Given the description of an element on the screen output the (x, y) to click on. 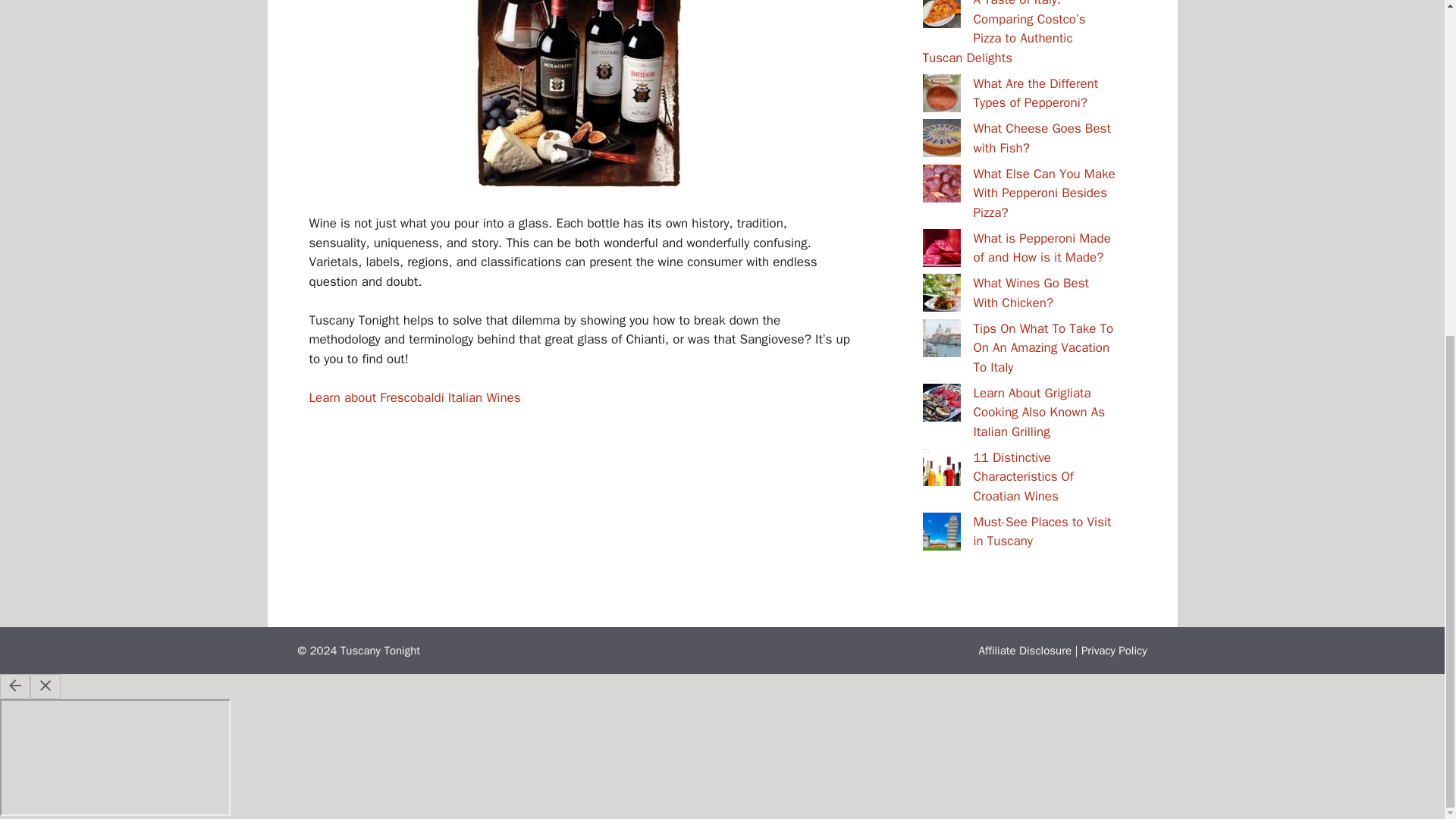
Privacy Policy (1114, 650)
What Cheese Goes Best with Fish? (1042, 138)
Tips On What To Take To On An Amazing Vacation To Italy (1043, 348)
Learn about Frescobaldi Italian Wines (414, 397)
What Wines Go Best With Chicken? (1031, 293)
11 Distinctive Characteristics Of Croatian Wines (1024, 476)
Learn About Grigliata Cooking Also Known As Italian Grilling (1039, 411)
Must-See Places to Visit in Tuscany (1043, 530)
Affiliate Disclosure (1024, 650)
What Else Can You Make With Pepperoni Besides Pizza? (1044, 193)
